Given the description of an element on the screen output the (x, y) to click on. 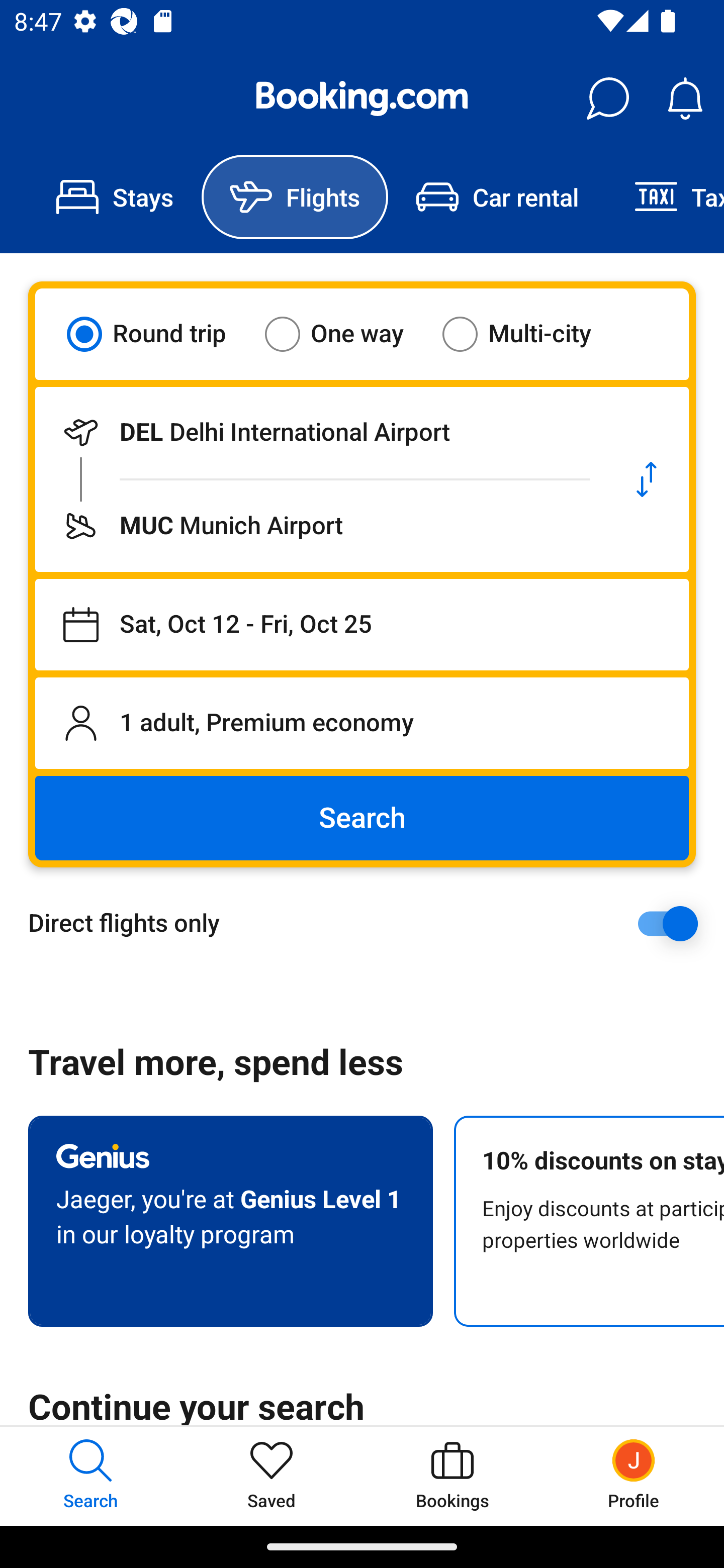
Messages (607, 98)
Notifications (685, 98)
Stays (114, 197)
Flights (294, 197)
Car rental (497, 197)
Taxi (665, 197)
One way (346, 333)
Multi-city (528, 333)
Departing from DEL Delhi International Airport (319, 432)
Swap departure location and destination (646, 479)
Flying to MUC Munich Airport (319, 525)
Departing on Sat, Oct 12, returning on Fri, Oct 25 (361, 624)
1 adult, Premium economy (361, 722)
Search (361, 818)
Direct flights only (369, 923)
Saved (271, 1475)
Bookings (452, 1475)
Profile (633, 1475)
